Given the description of an element on the screen output the (x, y) to click on. 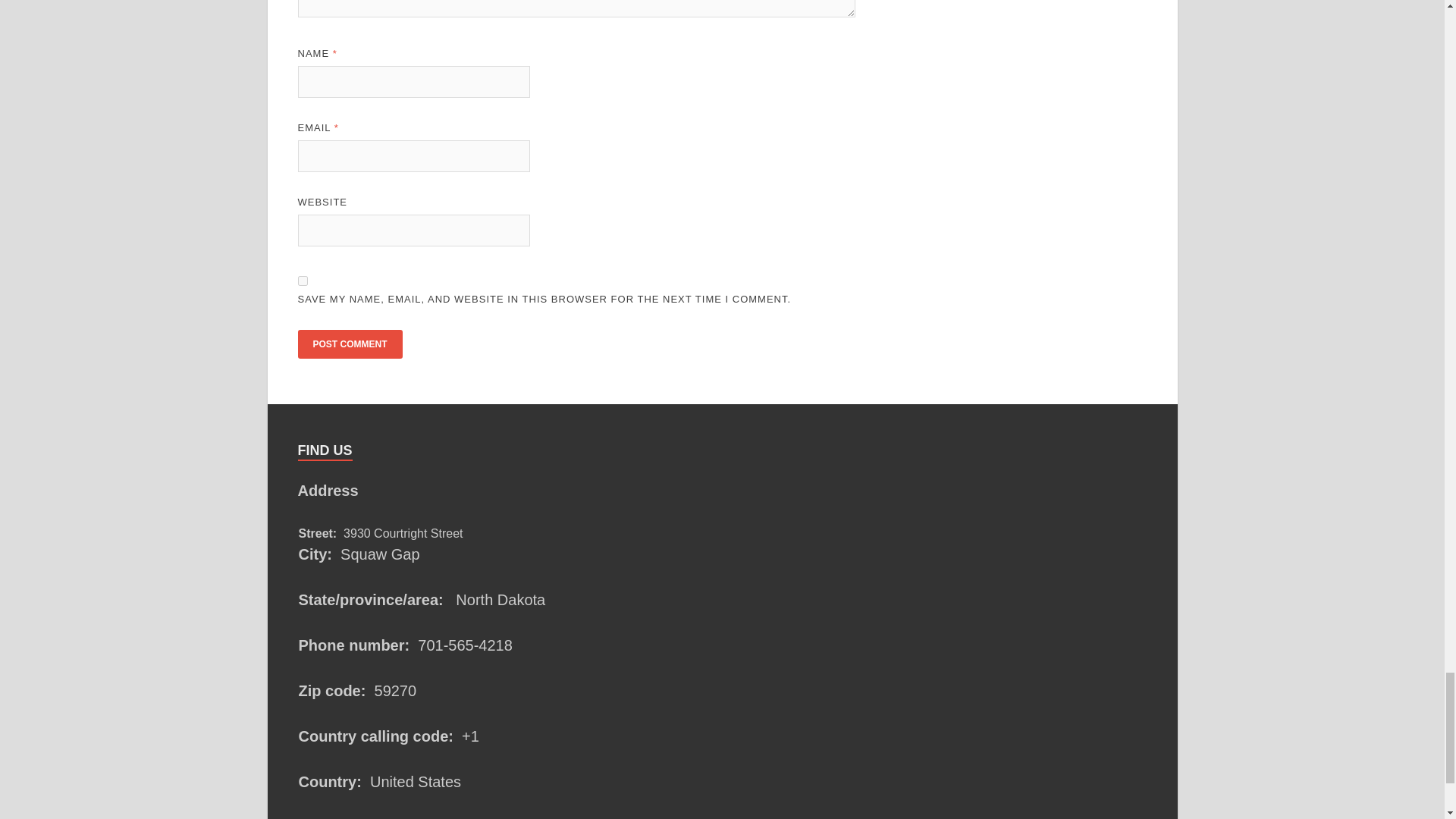
Post Comment (349, 344)
yes (302, 280)
